Given the description of an element on the screen output the (x, y) to click on. 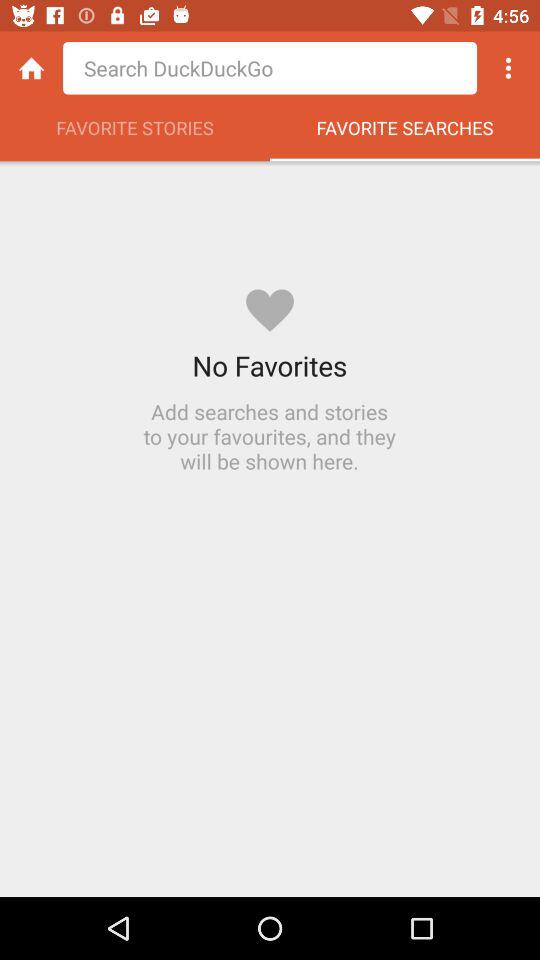
launch the item next to the favorite stories item (405, 133)
